Given the description of an element on the screen output the (x, y) to click on. 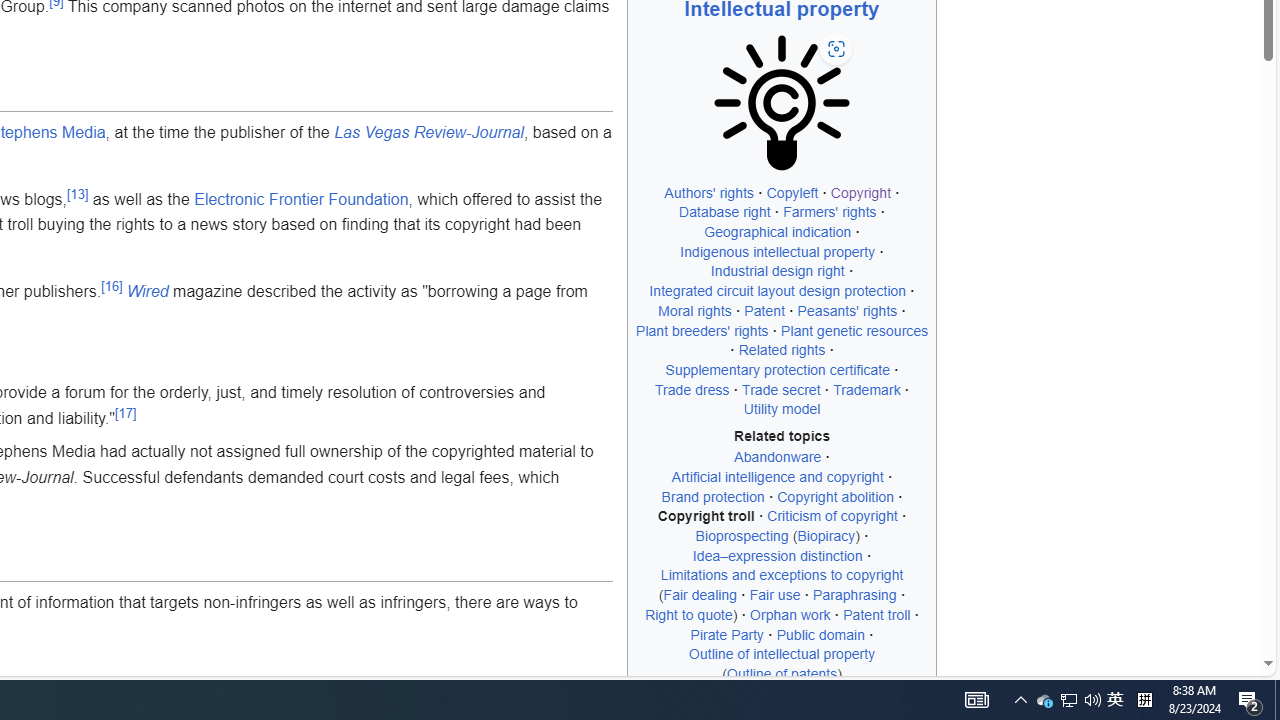
Wired (147, 291)
Outline of patents (781, 673)
Class: sidebar-image (781, 104)
Copyright abolition (835, 496)
Brand protection (712, 496)
Patent (764, 309)
Industrial design right (777, 271)
Copyright (860, 192)
Orphan work (790, 614)
Outline of intellectual property (781, 654)
Biopiracy (826, 536)
